Given the description of an element on the screen output the (x, y) to click on. 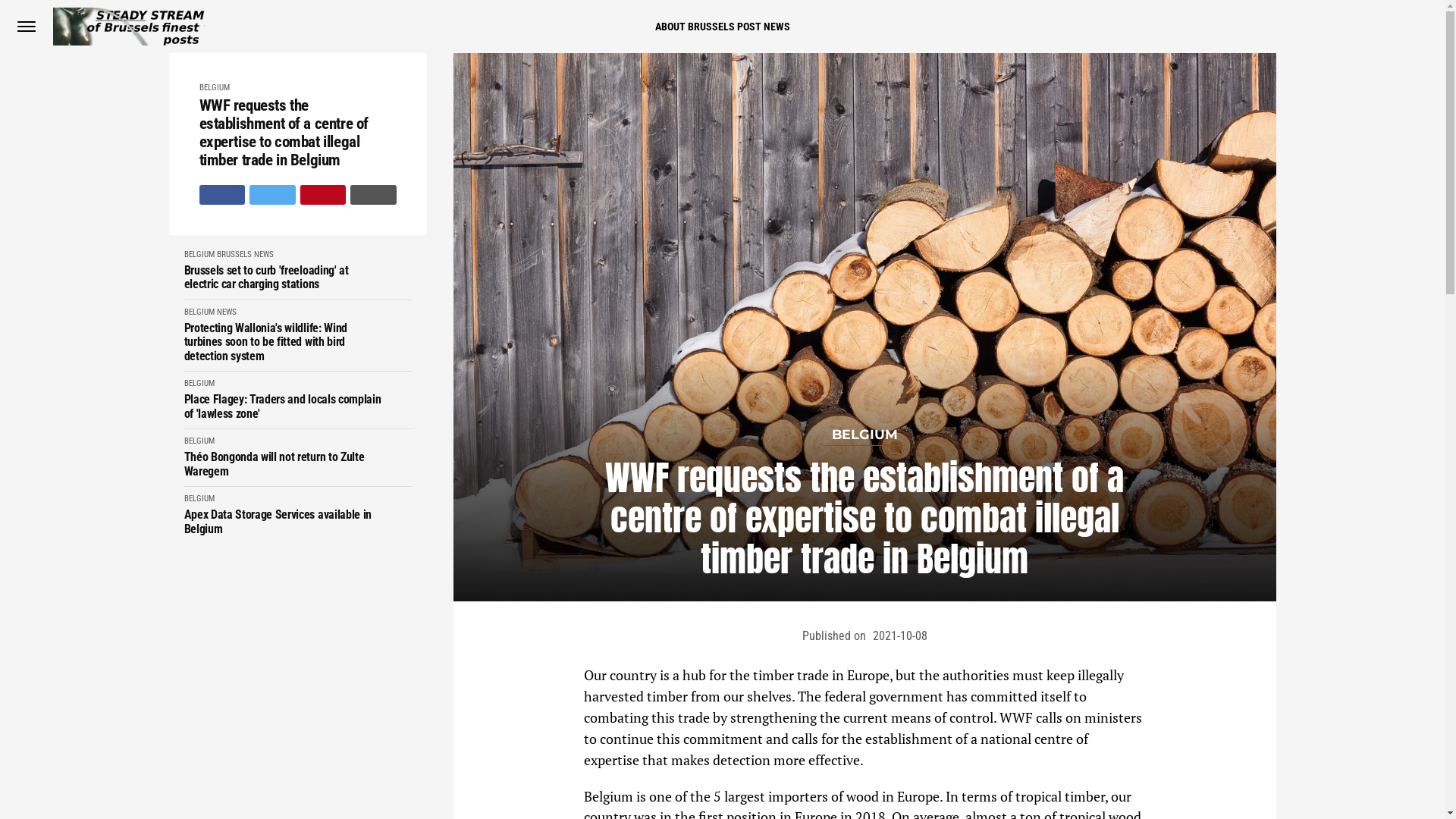
BELGIUM Element type: text (198, 440)
Tweet This Post Element type: hover (272, 194)
BELGIUM Element type: text (198, 498)
Share on Facebook Element type: hover (221, 194)
BELGIUM Element type: text (198, 383)
BELGIUM Element type: text (198, 254)
Place Flagey: Traders and locals complain of 'lawless zone' Element type: text (281, 406)
Pin This Post Element type: hover (323, 194)
BRUSSELS Element type: text (233, 254)
BELGIUM Element type: text (198, 311)
BELGIUM Element type: text (213, 87)
NEWS Element type: text (263, 254)
NEWS Element type: text (226, 311)
BELGIUM Element type: text (863, 434)
Apex Data Storage Services available in Belgium Element type: text (281, 522)
ABOUT BRUSSELS POST NEWS Element type: text (722, 26)
